Given the description of an element on the screen output the (x, y) to click on. 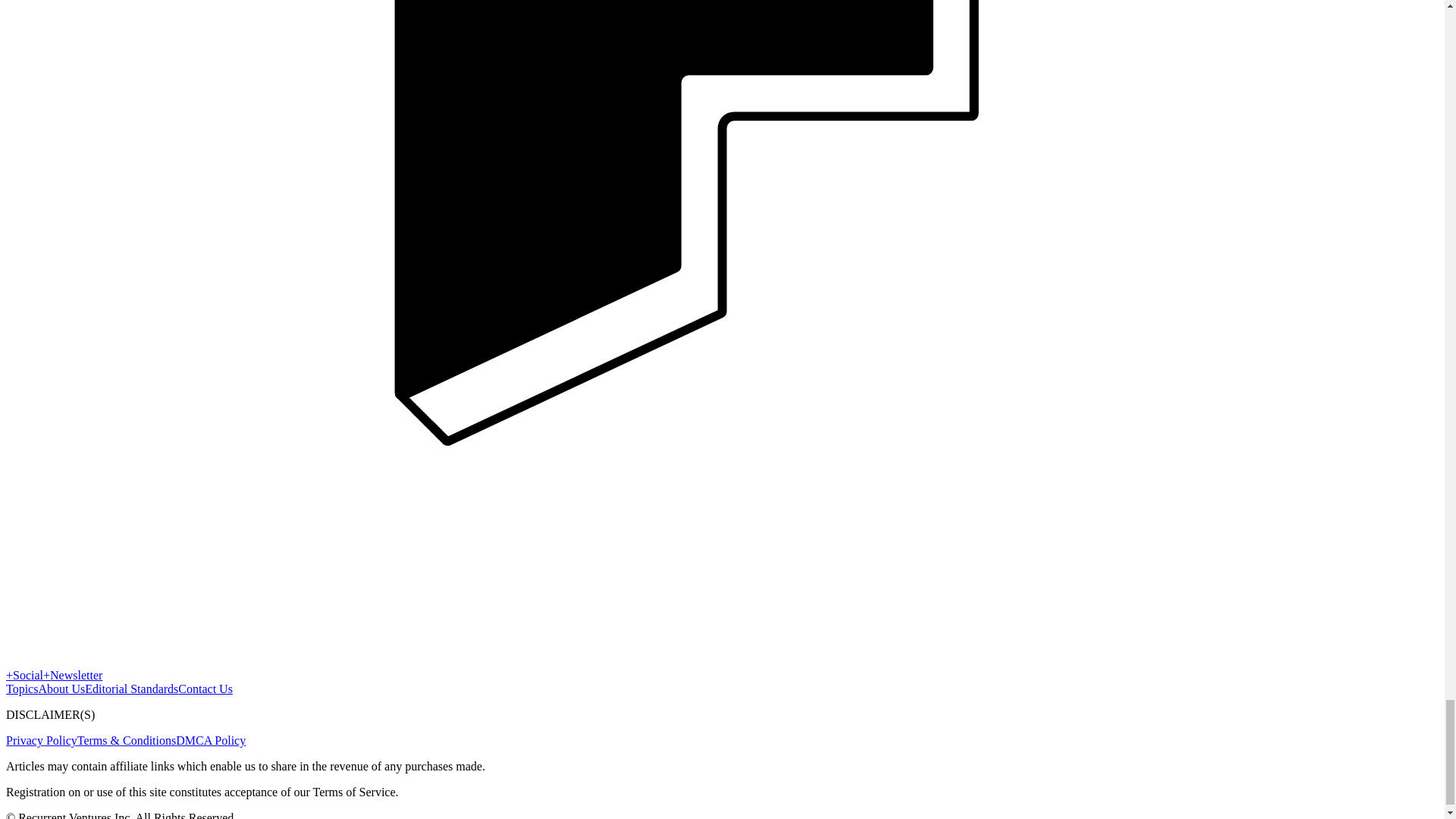
Topics (21, 688)
About Us (60, 688)
Editorial Standards (130, 688)
DMCA Policy (211, 739)
Contact Us (204, 688)
Privacy Policy (41, 739)
